Given the description of an element on the screen output the (x, y) to click on. 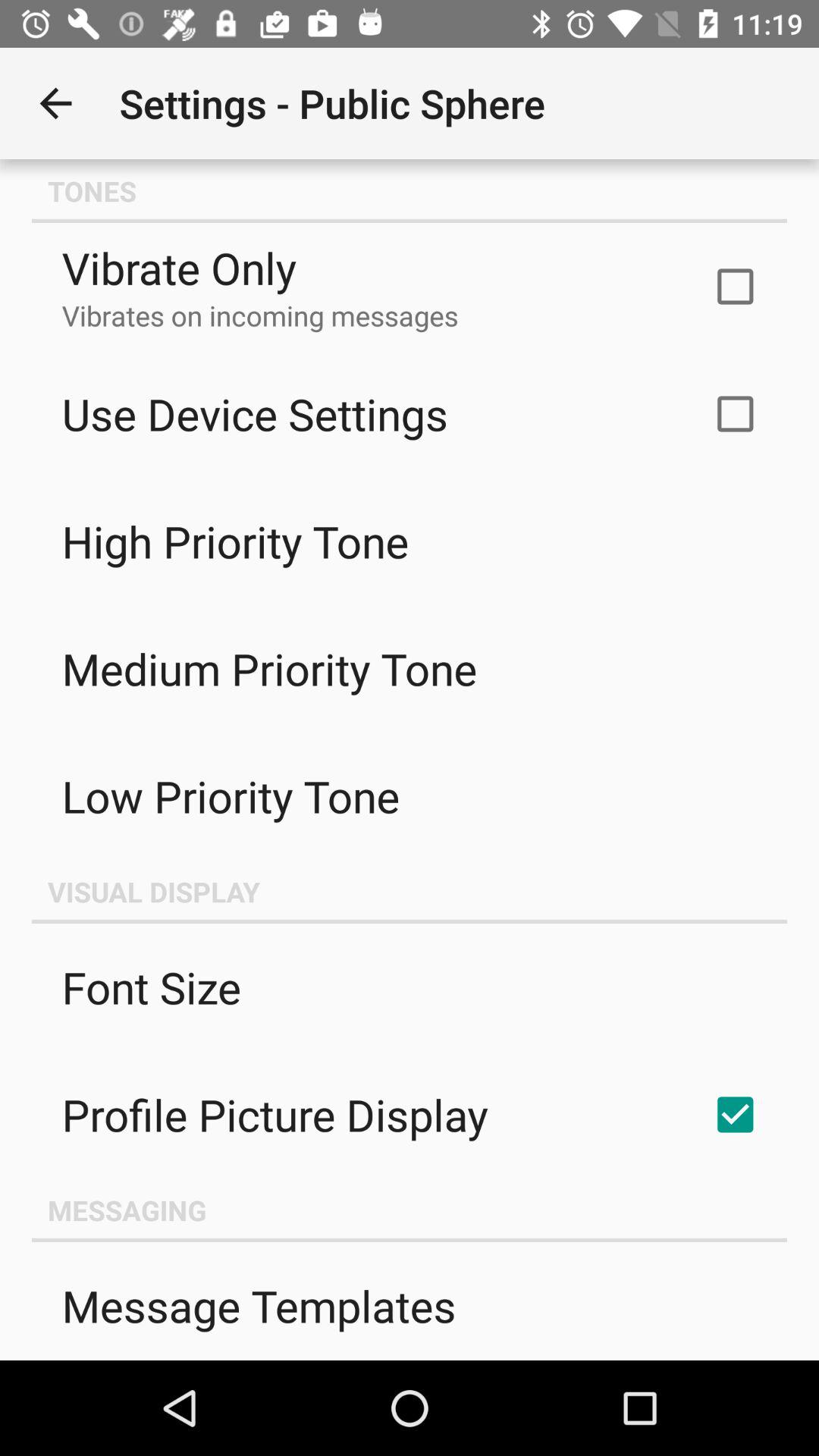
choose the messaging (409, 1210)
